Given the description of an element on the screen output the (x, y) to click on. 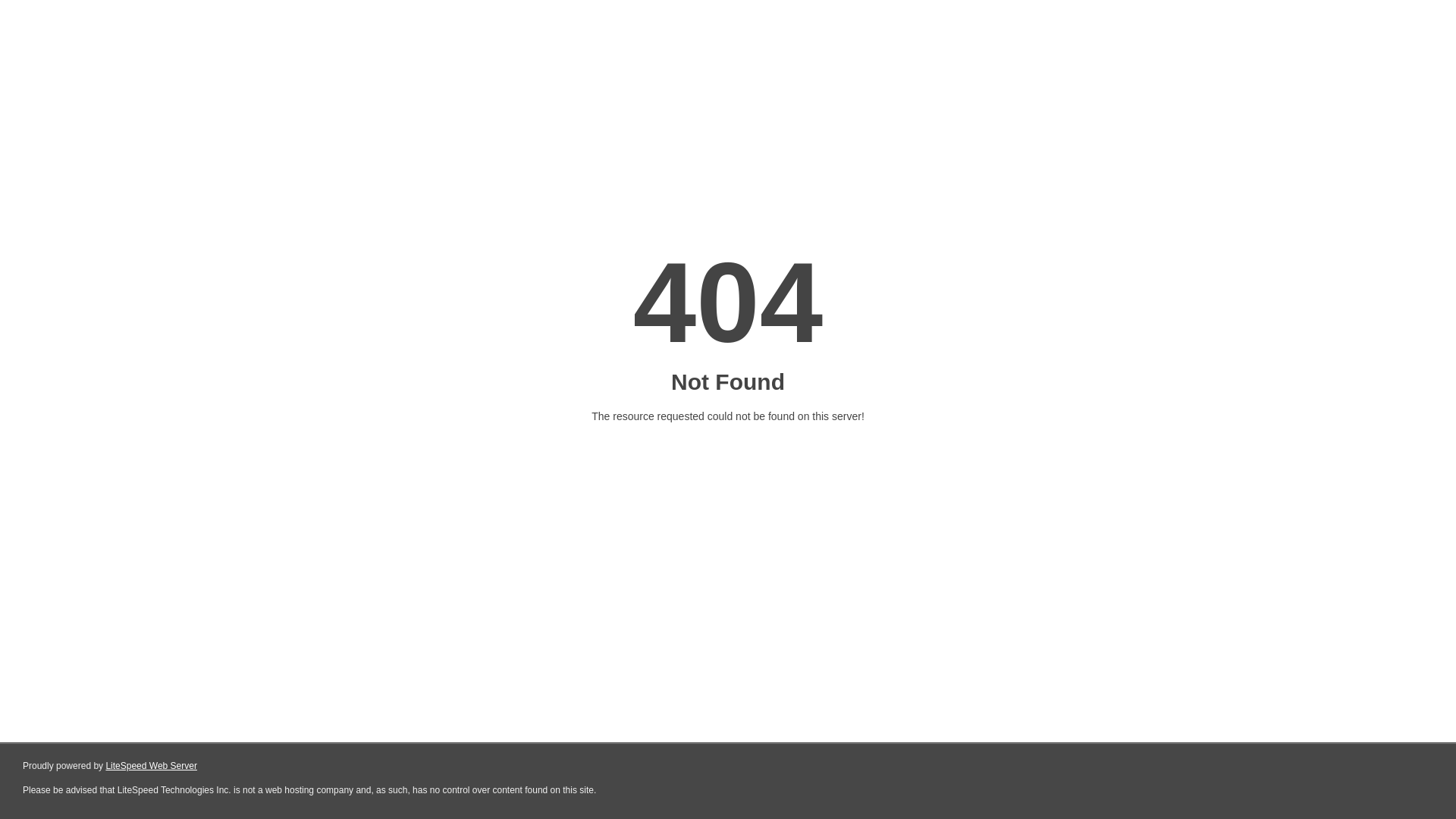
LiteSpeed Web Server Element type: text (151, 765)
